Given the description of an element on the screen output the (x, y) to click on. 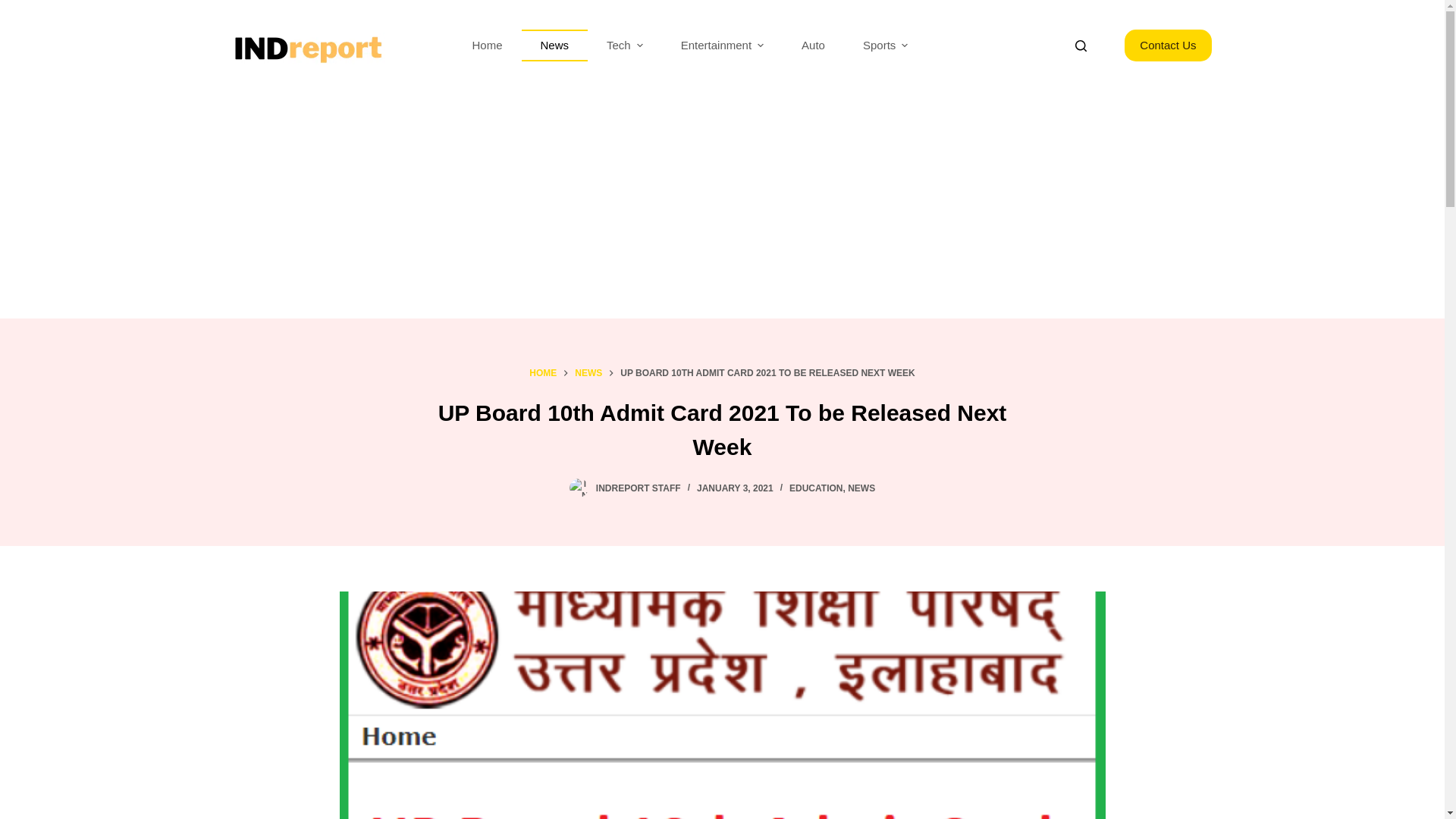
UP Board 10th Admit Card 2021 To be Released Next Week (722, 429)
Home (486, 45)
Sports (885, 45)
Posts by indreport staff (638, 488)
Tech (625, 45)
News (554, 45)
Skip to content (15, 7)
Auto (813, 45)
Contact Us (1167, 45)
